Given the description of an element on the screen output the (x, y) to click on. 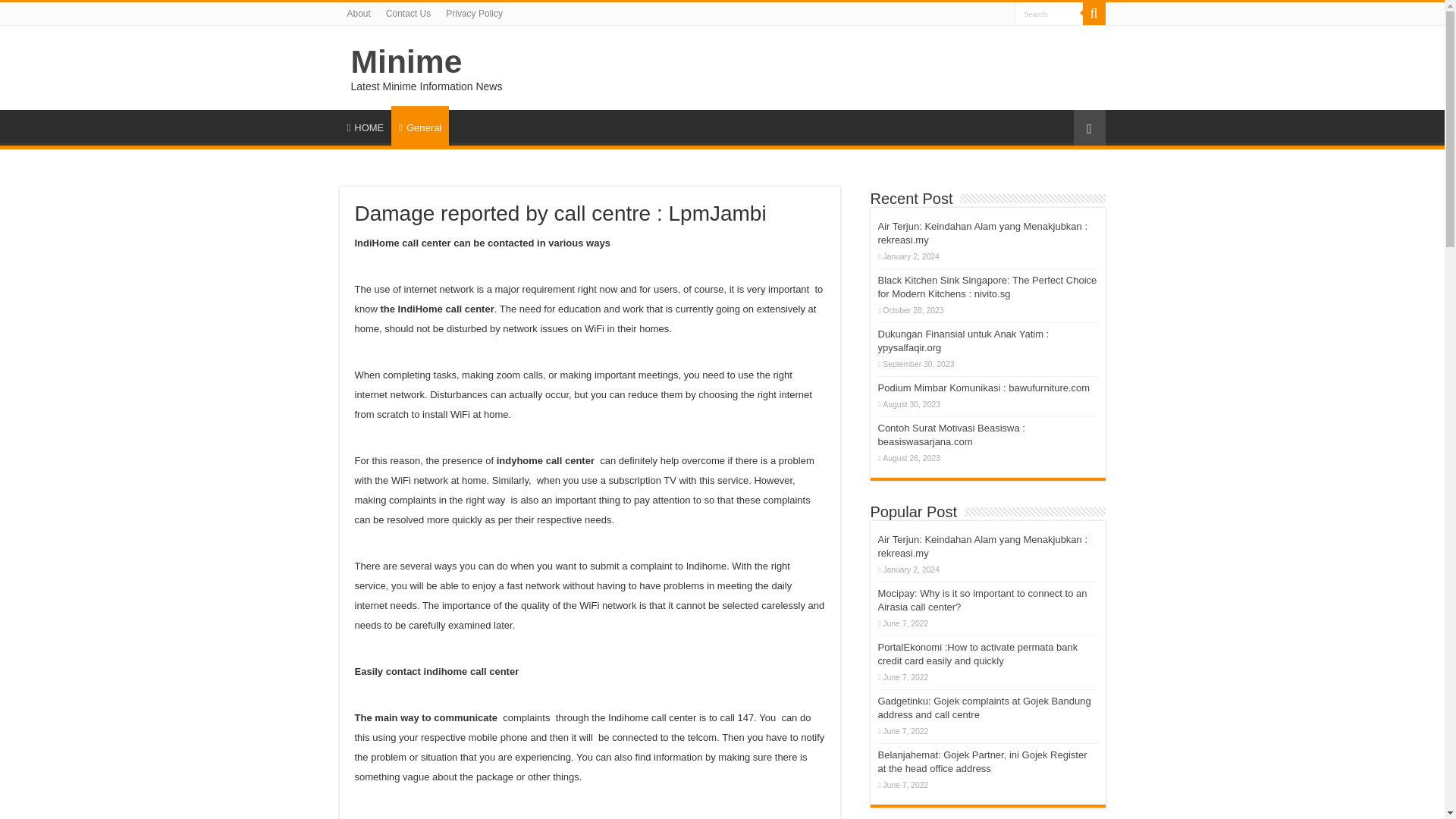
Search (1094, 13)
Search (1048, 13)
Dukungan Finansial untuk Anak Yatim : ypysalfaqir.org (963, 340)
General (419, 125)
Search (1048, 13)
Podium Mimbar Komunikasi : bawufurniture.com (983, 387)
Contact Us (408, 13)
Contoh Surat Motivasi Beasiswa : beasiswasarjana.com (951, 434)
